Given the description of an element on the screen output the (x, y) to click on. 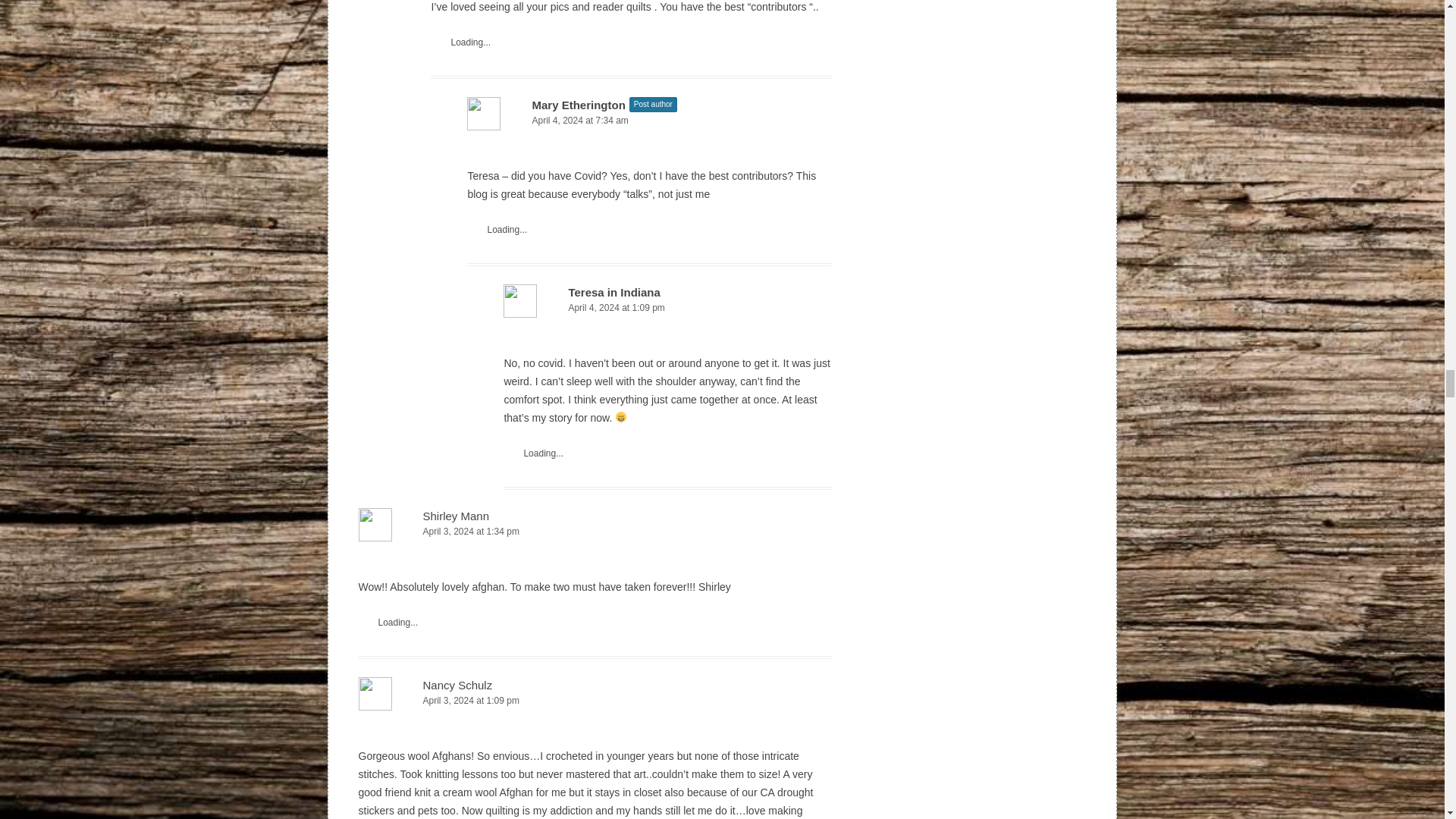
April 4, 2024 at 7:34 am (649, 120)
April 4, 2024 at 1:09 pm (667, 308)
April 3, 2024 at 1:09 pm (594, 700)
April 3, 2024 at 1:34 pm (594, 531)
